Given the description of an element on the screen output the (x, y) to click on. 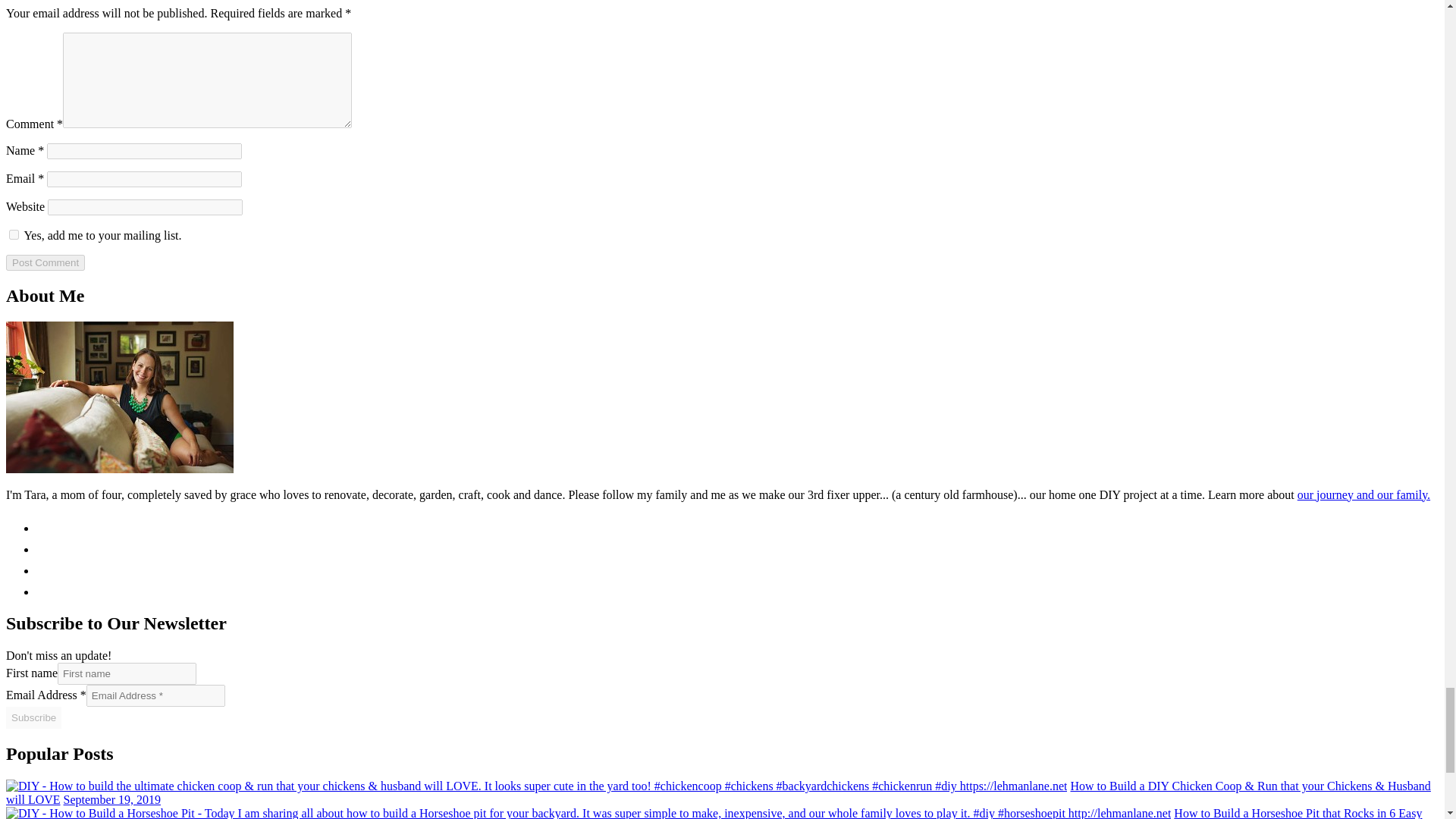
Email Address (155, 695)
Post Comment (44, 262)
1 (13, 234)
First name (127, 673)
Subscribe (33, 717)
